Given the description of an element on the screen output the (x, y) to click on. 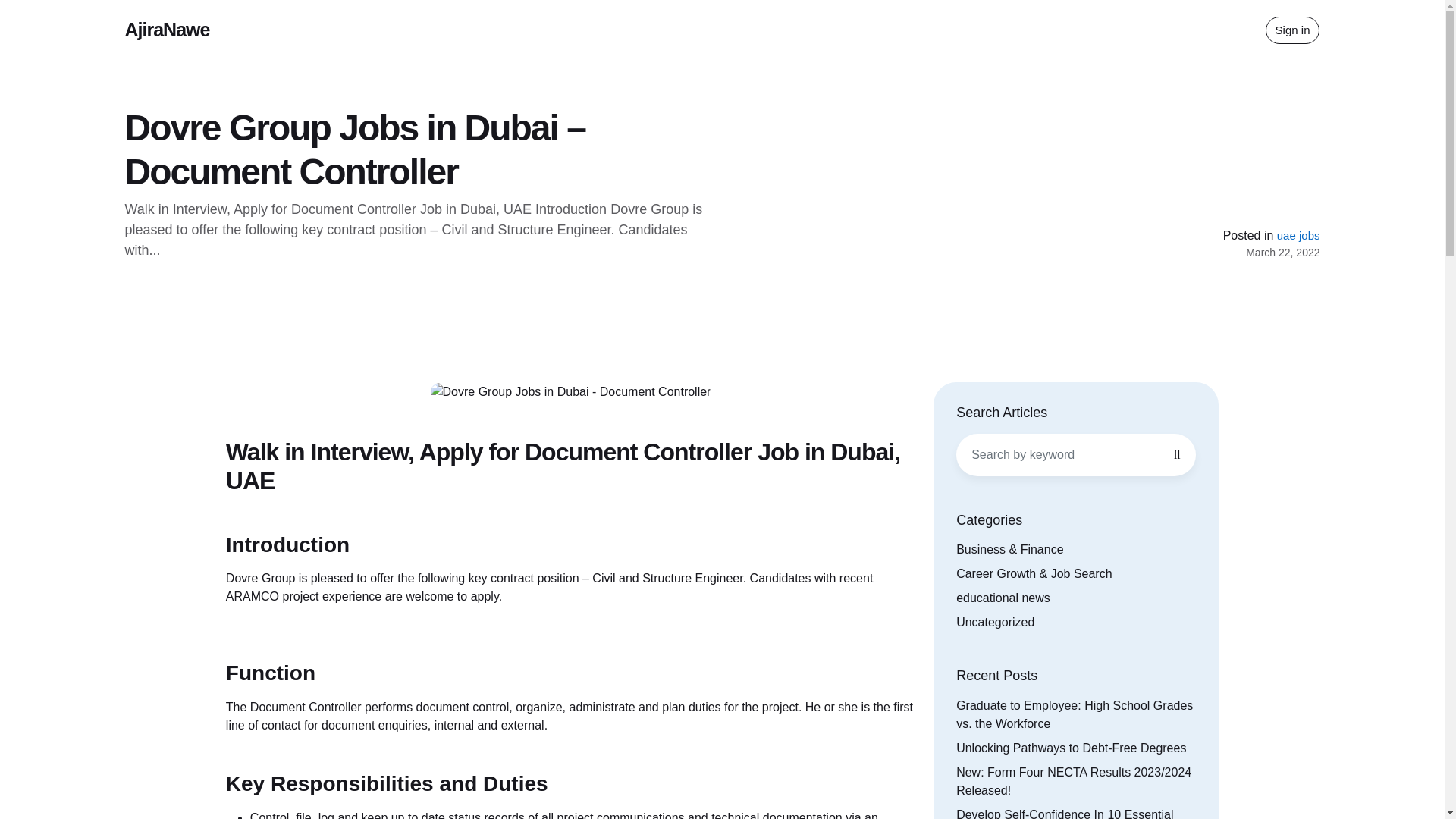
AjiraNawe (166, 29)
uae jobs (1298, 235)
View all posts in uae jobs (1298, 235)
Dovre Group Jobs in Dubai - Document Controller (570, 392)
Sign in (1292, 30)
